Given the description of an element on the screen output the (x, y) to click on. 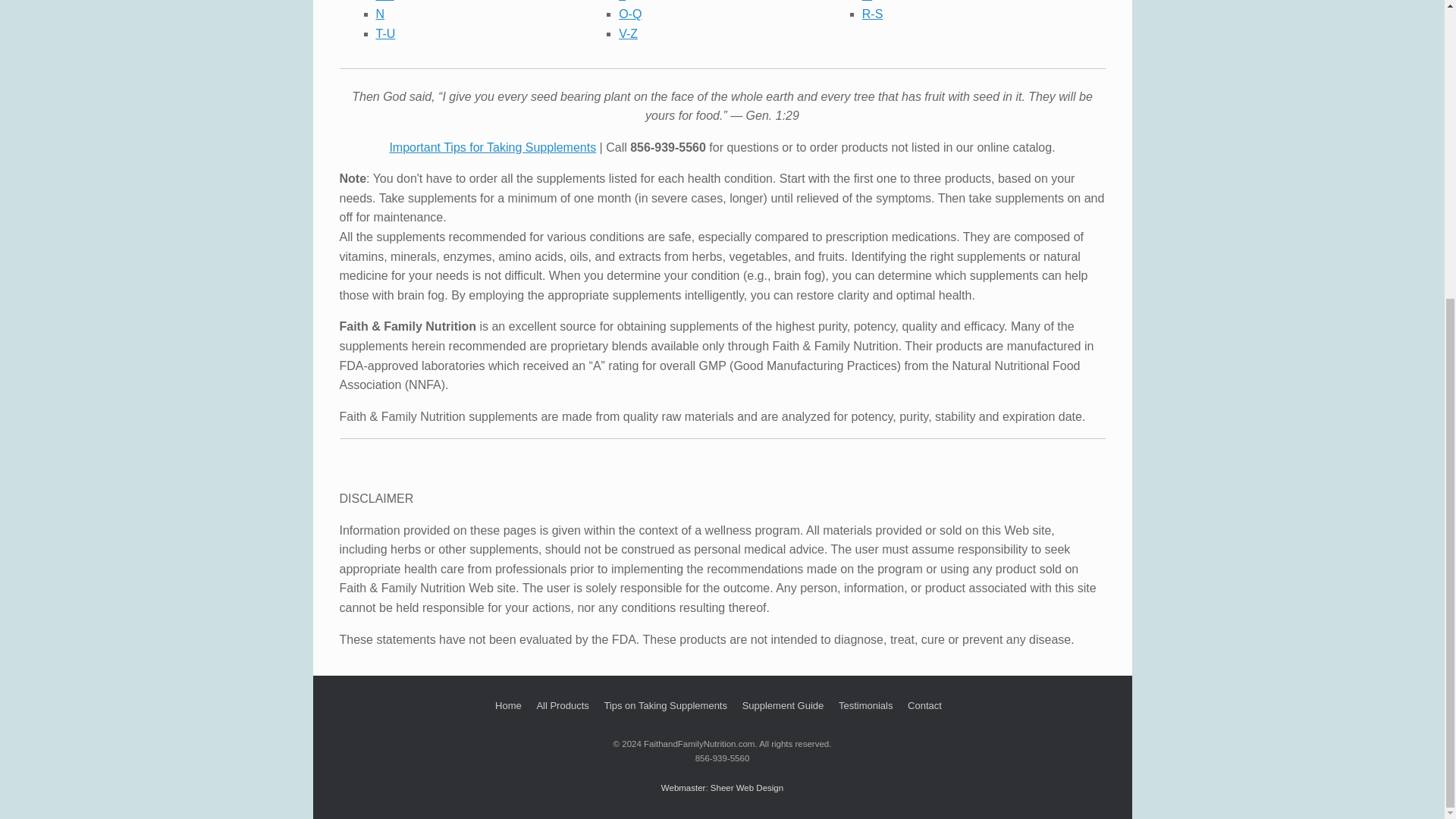
R-S (872, 13)
T-U (385, 33)
Tips on Taking Supplements (665, 706)
Important Tips for Taking Supplements (491, 146)
All Products (561, 706)
V-Z (627, 33)
Home (508, 706)
